Given the description of an element on the screen output the (x, y) to click on. 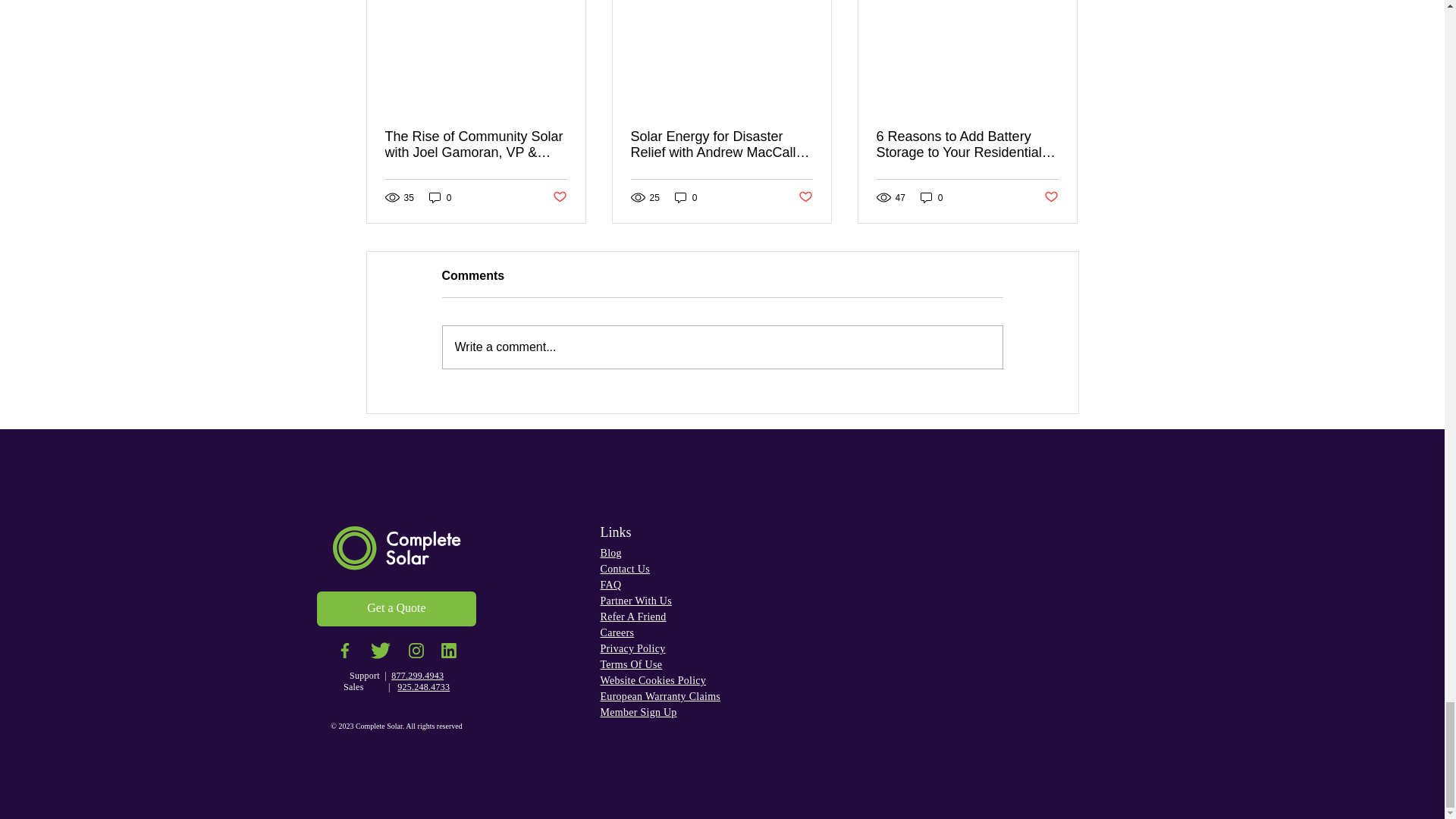
0 (440, 197)
